Given the description of an element on the screen output the (x, y) to click on. 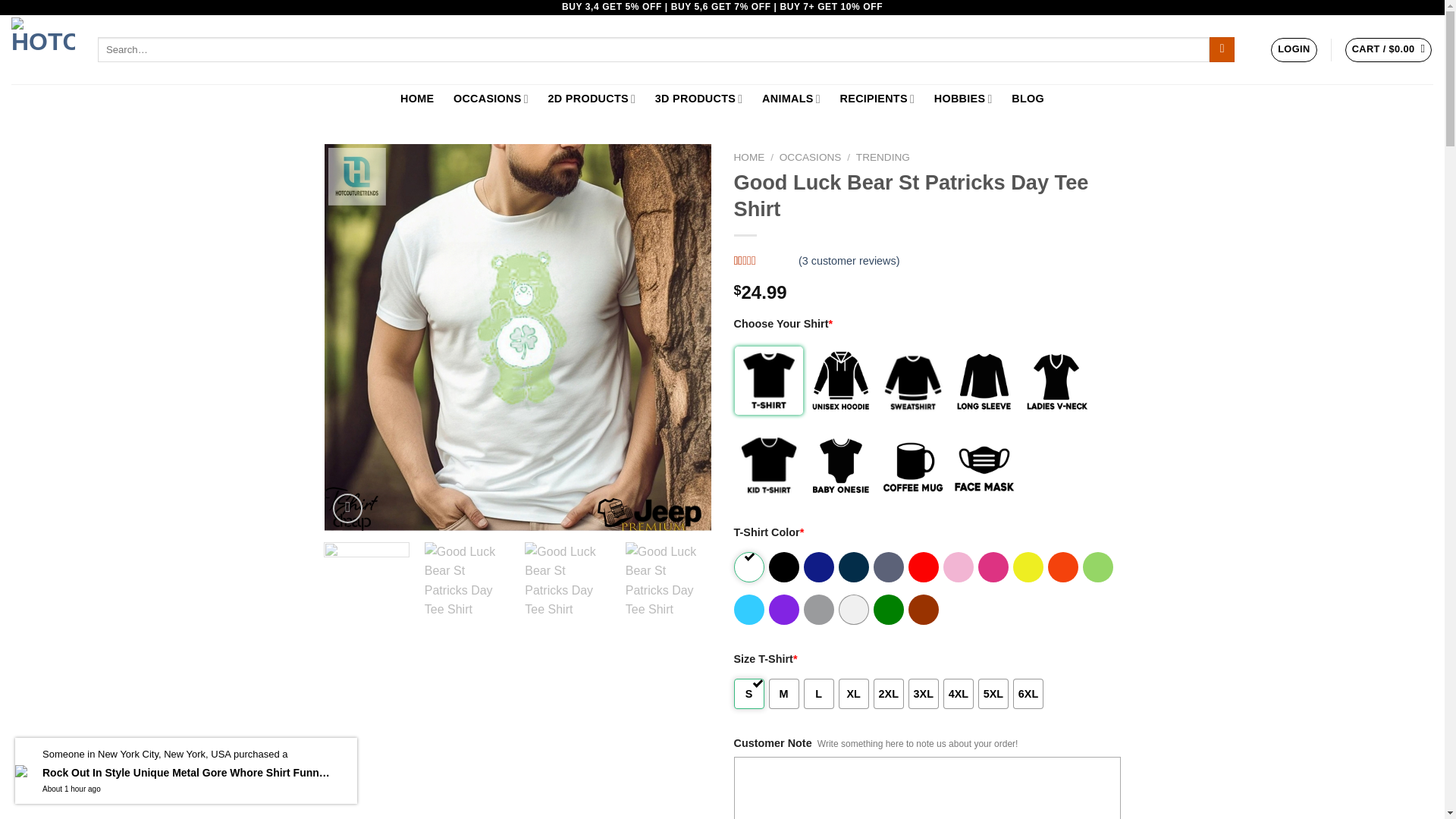
Hotcouturetrends (43, 48)
ANIMALS (790, 98)
Zoom (347, 508)
Good Luck Bear St Patricks Day Tee Shirt 3 (668, 585)
LOGIN (1293, 49)
HOME (417, 98)
Good Luck Bear St Patricks Day Tee Shirt 1 (468, 585)
2D PRODUCTS (591, 98)
RECIPIENTS (876, 98)
Good Luck Bear St Patricks Day Tee Shirt 2 (567, 585)
Search (1221, 49)
Cart (1388, 49)
OCCASIONS (491, 98)
3D PRODUCTS (698, 98)
